Given the description of an element on the screen output the (x, y) to click on. 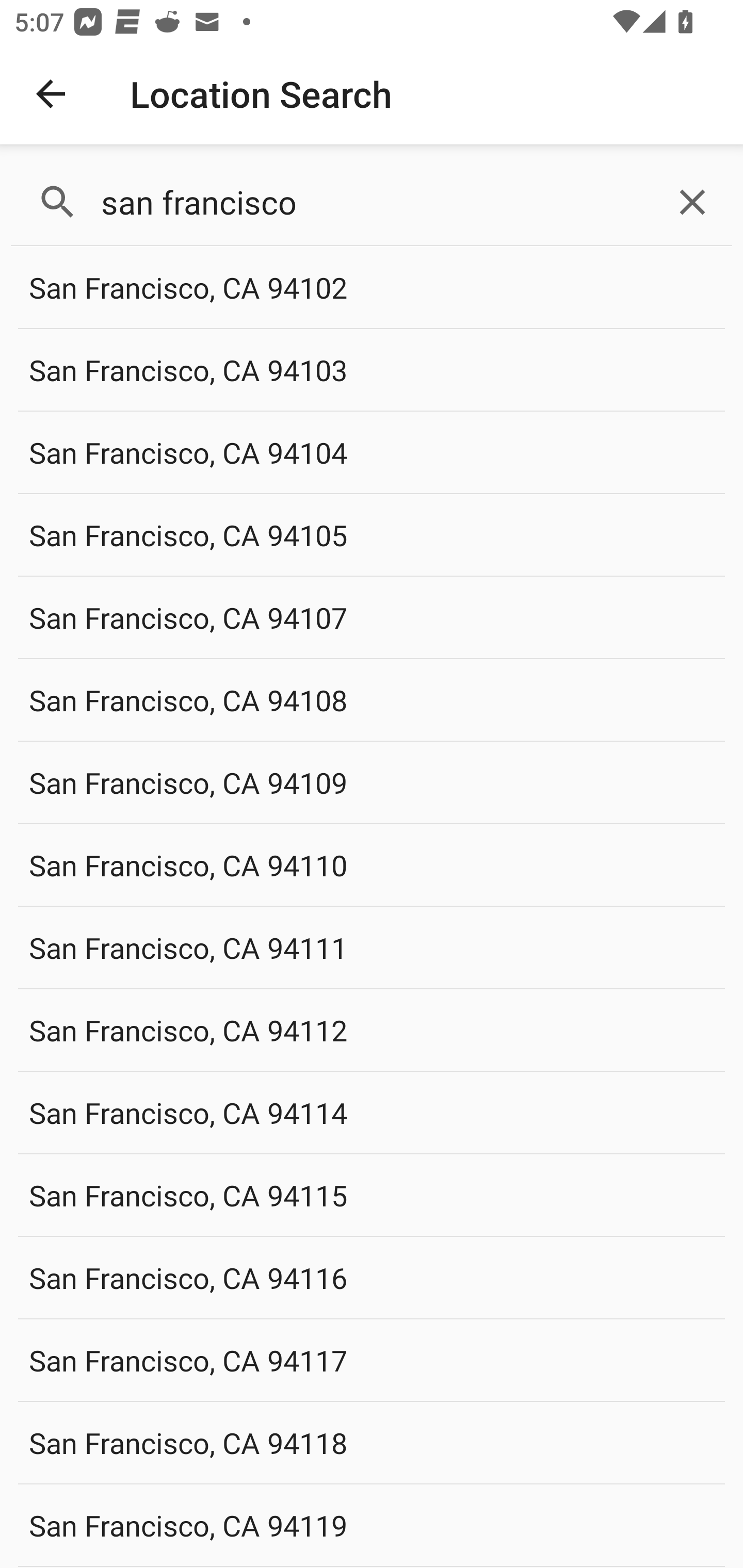
Navigate up (50, 93)
Clear query (692, 202)
san francisco (371, 202)
San Francisco, CA 94102 (371, 287)
San Francisco, CA 94103 (371, 369)
San Francisco, CA 94104 (371, 451)
San Francisco, CA 94105 (371, 534)
San Francisco, CA 94107 (371, 616)
San Francisco, CA 94108 (371, 699)
San Francisco, CA 94109 (371, 782)
San Francisco, CA 94110 (371, 864)
San Francisco, CA 94111 (371, 947)
San Francisco, CA 94112 (371, 1029)
San Francisco, CA 94114 (371, 1112)
San Francisco, CA 94115 (371, 1194)
San Francisco, CA 94116 (371, 1276)
San Francisco, CA 94117 (371, 1359)
San Francisco, CA 94118 (371, 1442)
San Francisco, CA 94119 (371, 1524)
